Given the description of an element on the screen output the (x, y) to click on. 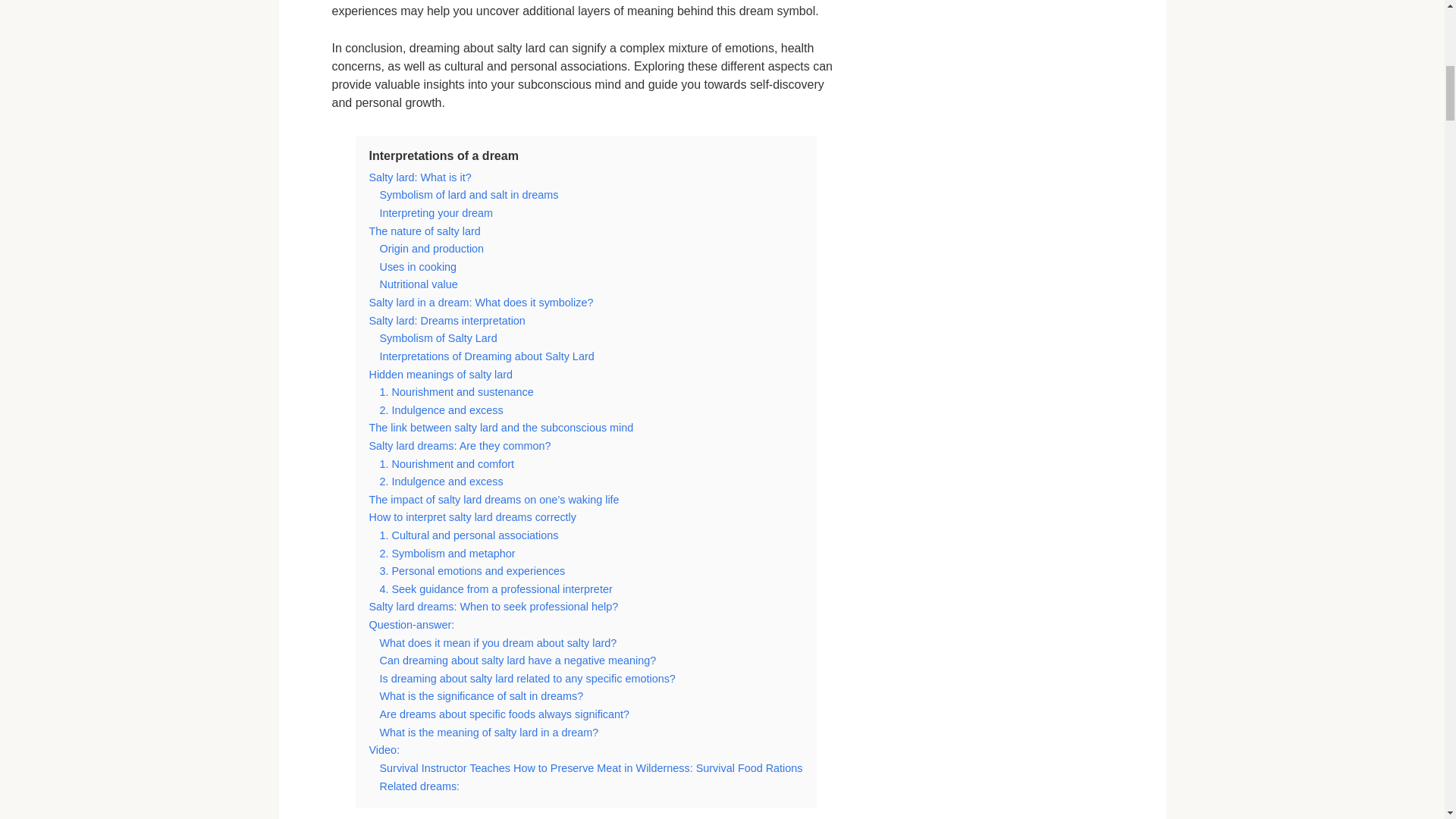
The nature of salty lard (424, 231)
Symbolism of Salty Lard (437, 337)
Interpreting your dream (435, 213)
Nutritional value (417, 284)
Interpretations of Dreaming about Salty Lard (486, 356)
Symbolism of lard and salt in dreams (467, 194)
Uses in cooking (417, 266)
Salty lard in a dream: What does it symbolize? (480, 302)
Salty lard: Dreams interpretation (446, 320)
Salty lard: What is it? (419, 177)
